Given the description of an element on the screen output the (x, y) to click on. 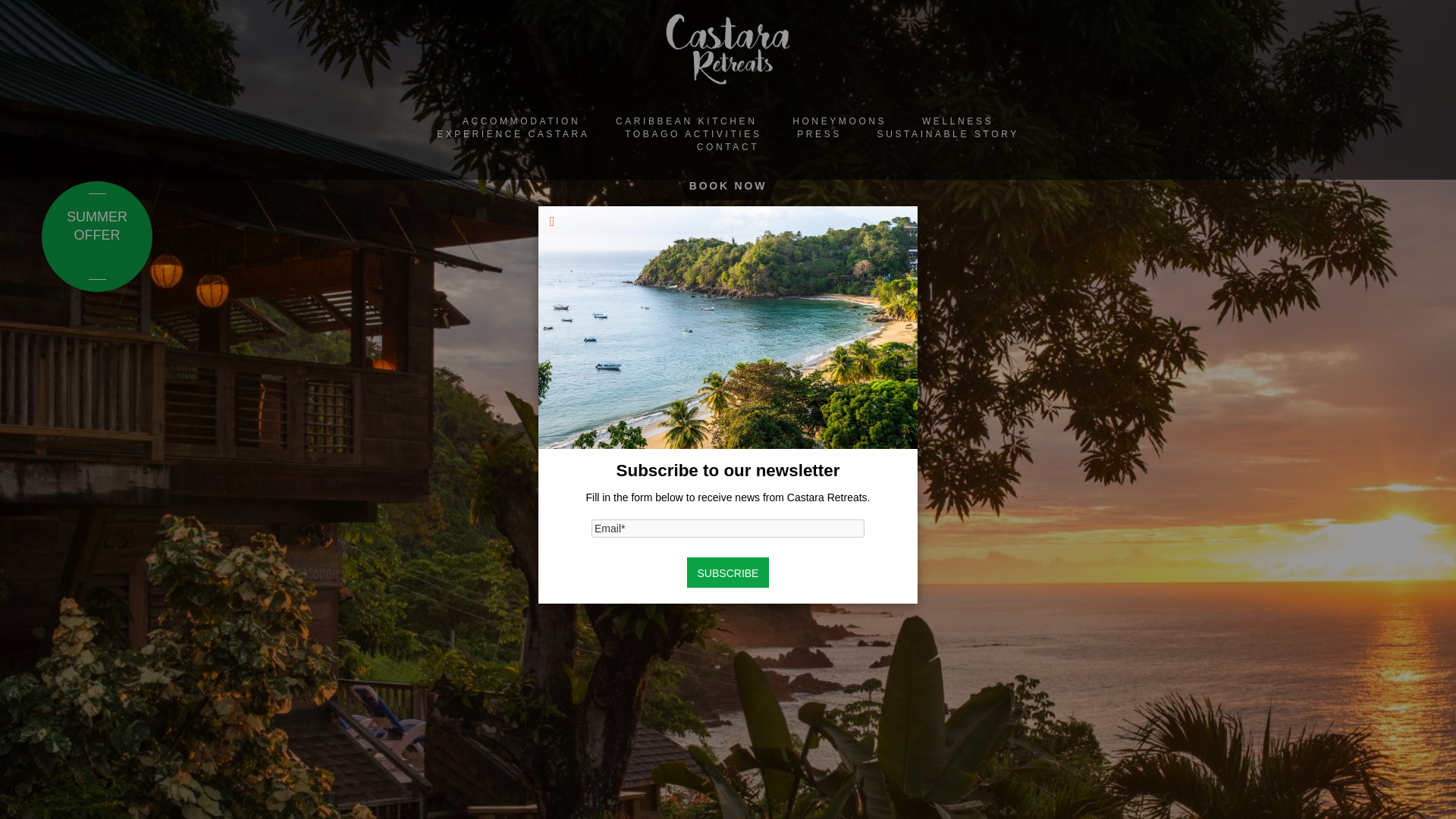
SUSTAINABLE STORY (948, 133)
CARIBBEAN KITCHEN (686, 121)
ACCOMMODATION (521, 121)
CONTACT (727, 146)
Subscribe (728, 572)
WELLNESS (956, 121)
HONEYMOONS (839, 121)
BOOK NOW (727, 185)
TOBAGO ACTIVITIES (692, 133)
EXPERIENCE CASTARA (512, 133)
